Given the description of an element on the screen output the (x, y) to click on. 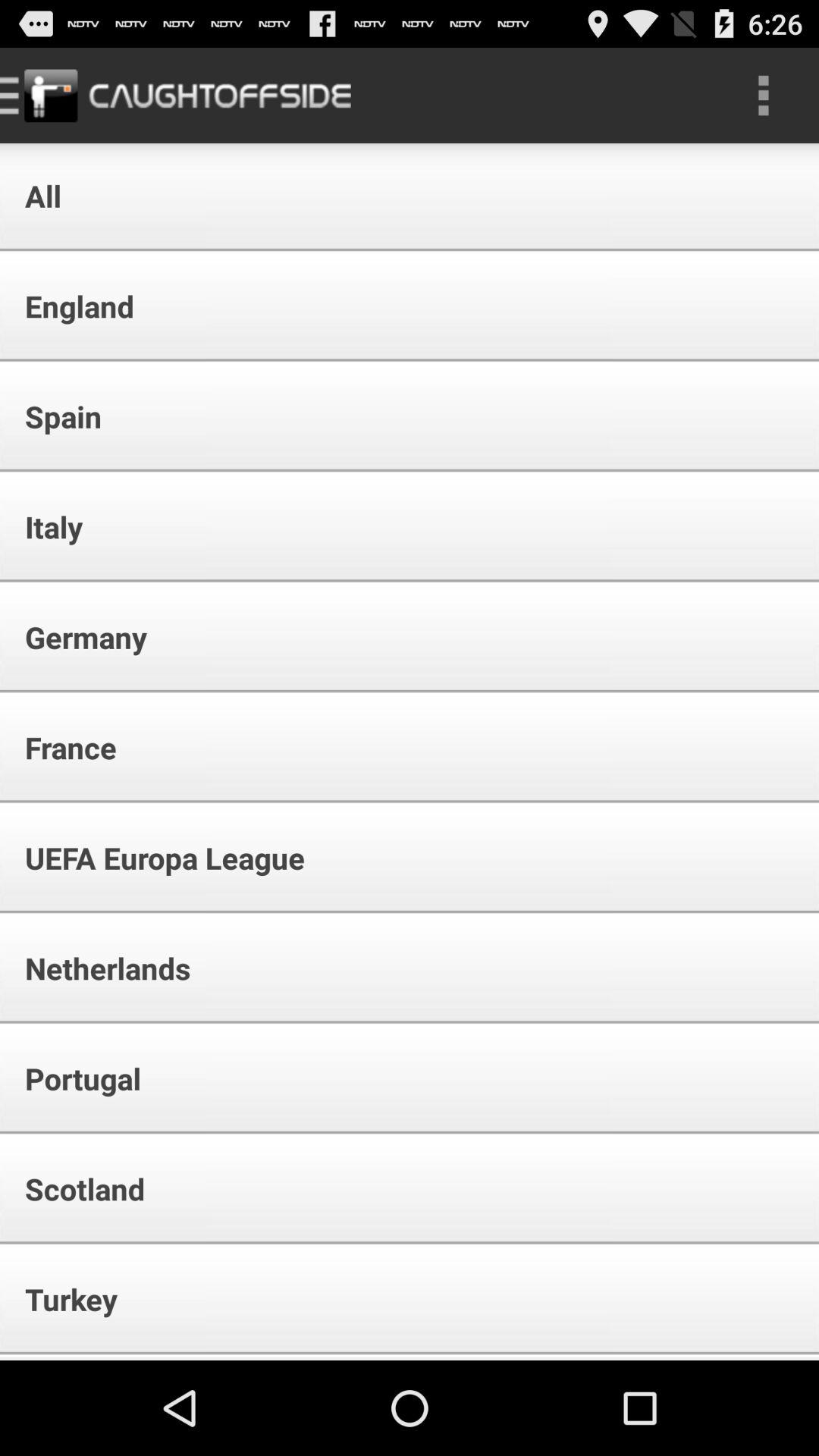
turn off icon below portugal app (75, 1188)
